Given the description of an element on the screen output the (x, y) to click on. 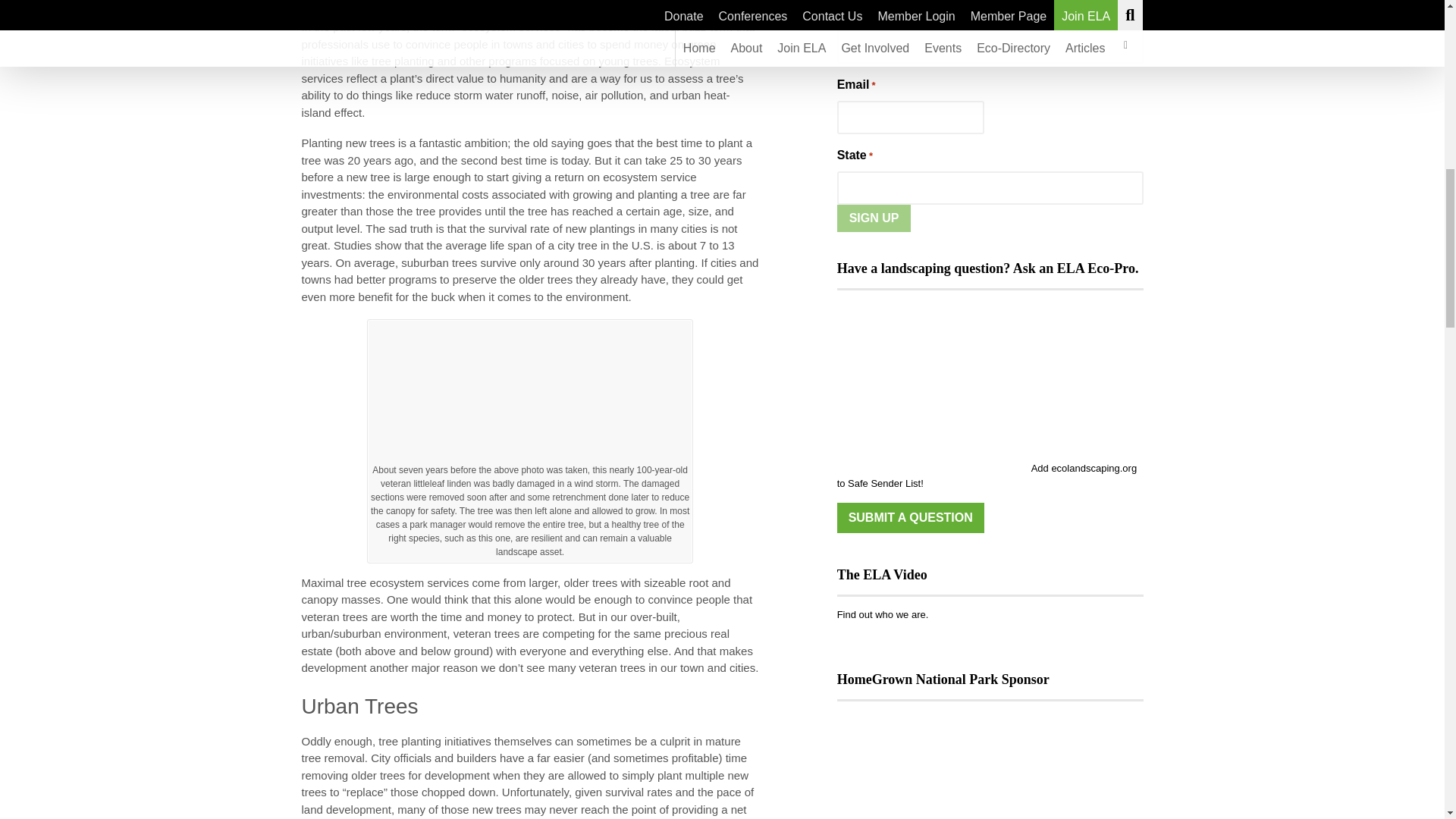
Sign up (874, 217)
